Given the description of an element on the screen output the (x, y) to click on. 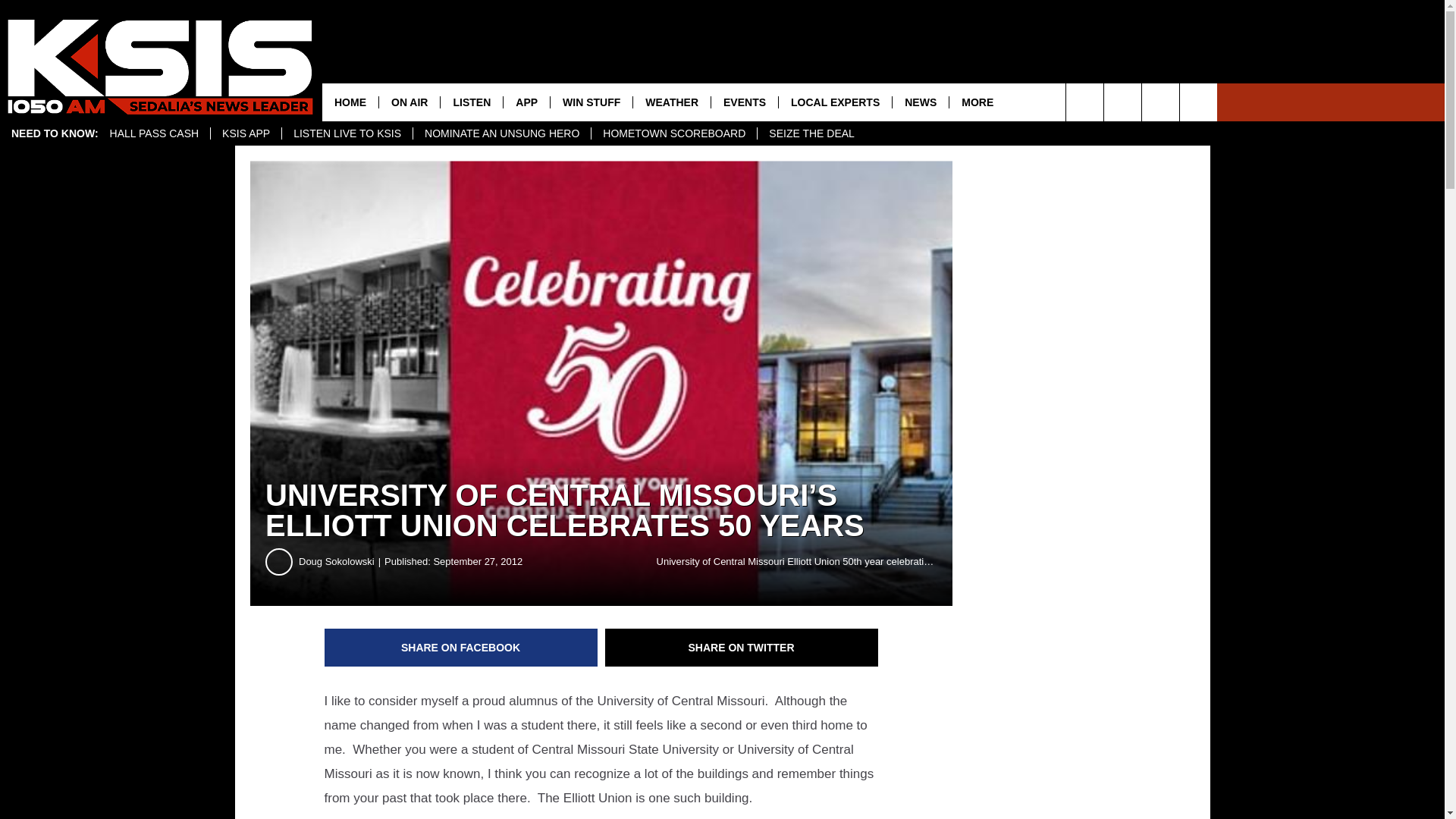
APP (526, 102)
HALL PASS CASH (155, 133)
NEWS (920, 102)
SEIZE THE DEAL (811, 133)
KSIS APP (245, 133)
NOMINATE AN UNSUNG HERO (501, 133)
LISTEN (470, 102)
WEATHER (670, 102)
LOCAL EXPERTS (834, 102)
HOME (349, 102)
